Given the description of an element on the screen output the (x, y) to click on. 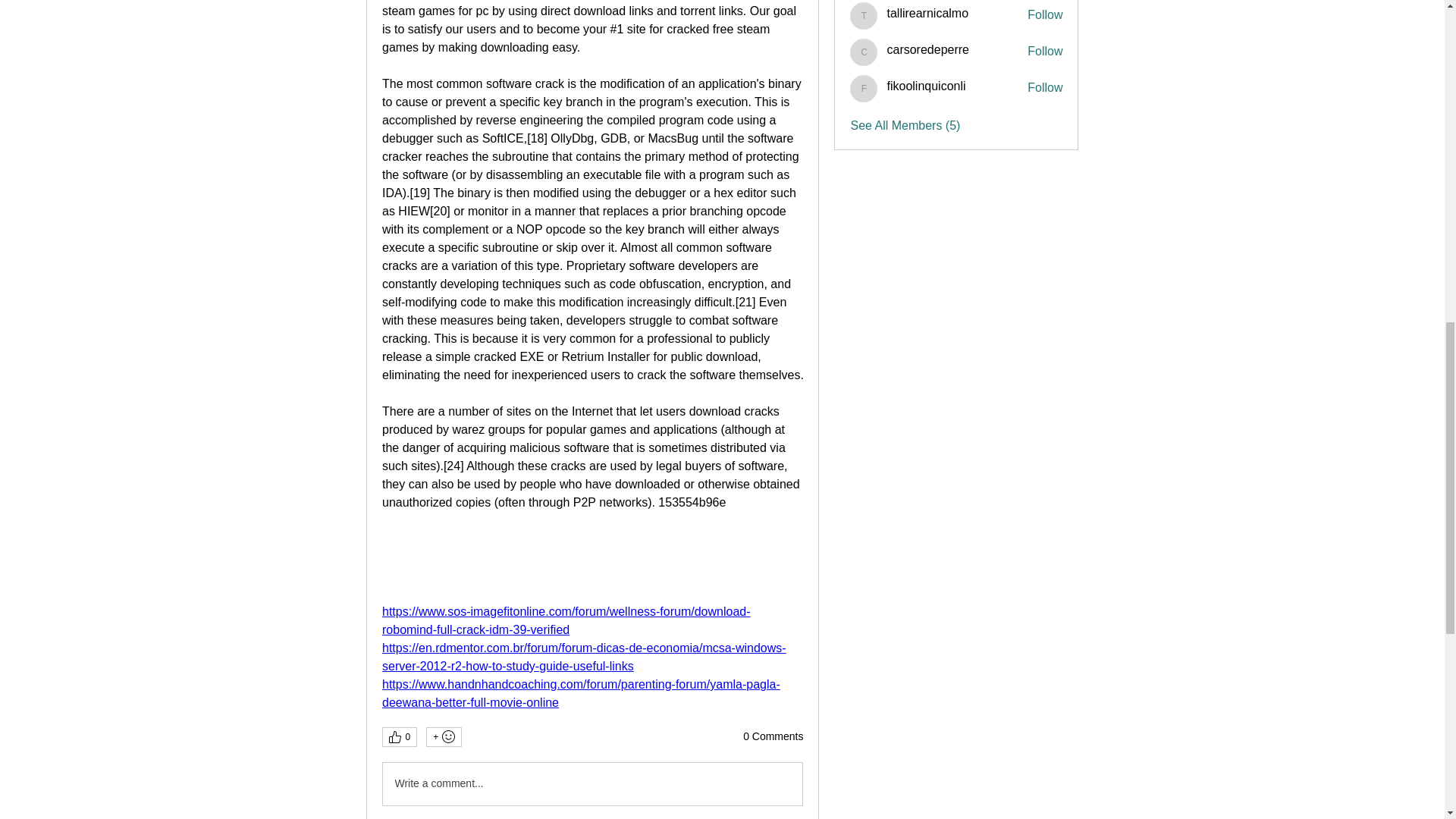
Follow (1044, 51)
tallirearnicalmo (863, 15)
fikoolinquiconli (925, 85)
carsoredeperre (863, 52)
Write a comment... (591, 783)
Follow (1044, 14)
fikoolinquiconli (863, 88)
0 Comments (772, 736)
tallirearnicalmo (927, 12)
Follow (1044, 87)
carsoredeperre (927, 49)
